Given the description of an element on the screen output the (x, y) to click on. 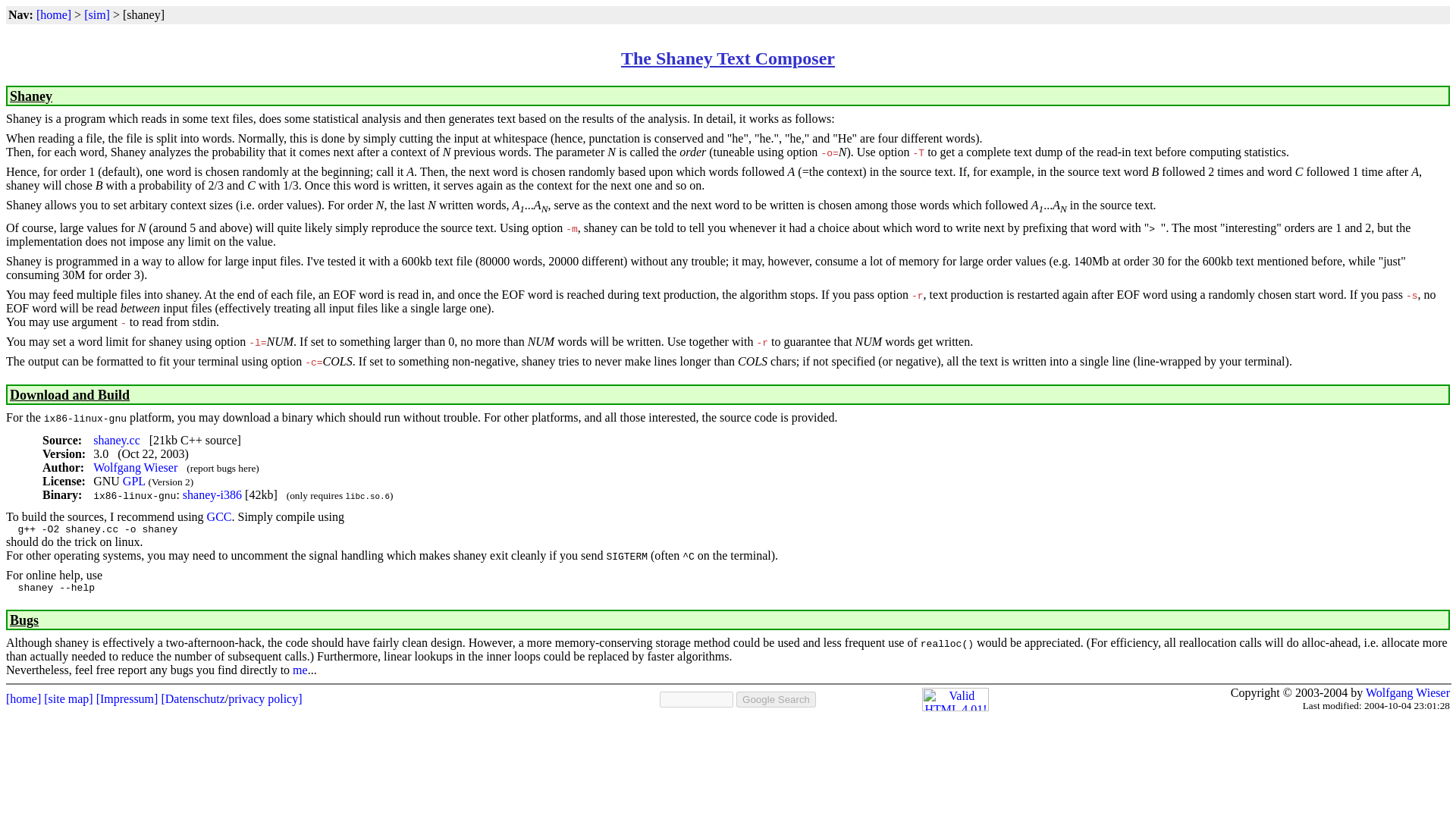
Google Search (775, 699)
me (299, 669)
Wolfgang Wieser (1407, 692)
Google Search (775, 699)
GCC (218, 516)
GPL (133, 481)
shaney-i386 (212, 494)
shaney.cc (116, 440)
Wolfgang Wieser (135, 467)
